Given the description of an element on the screen output the (x, y) to click on. 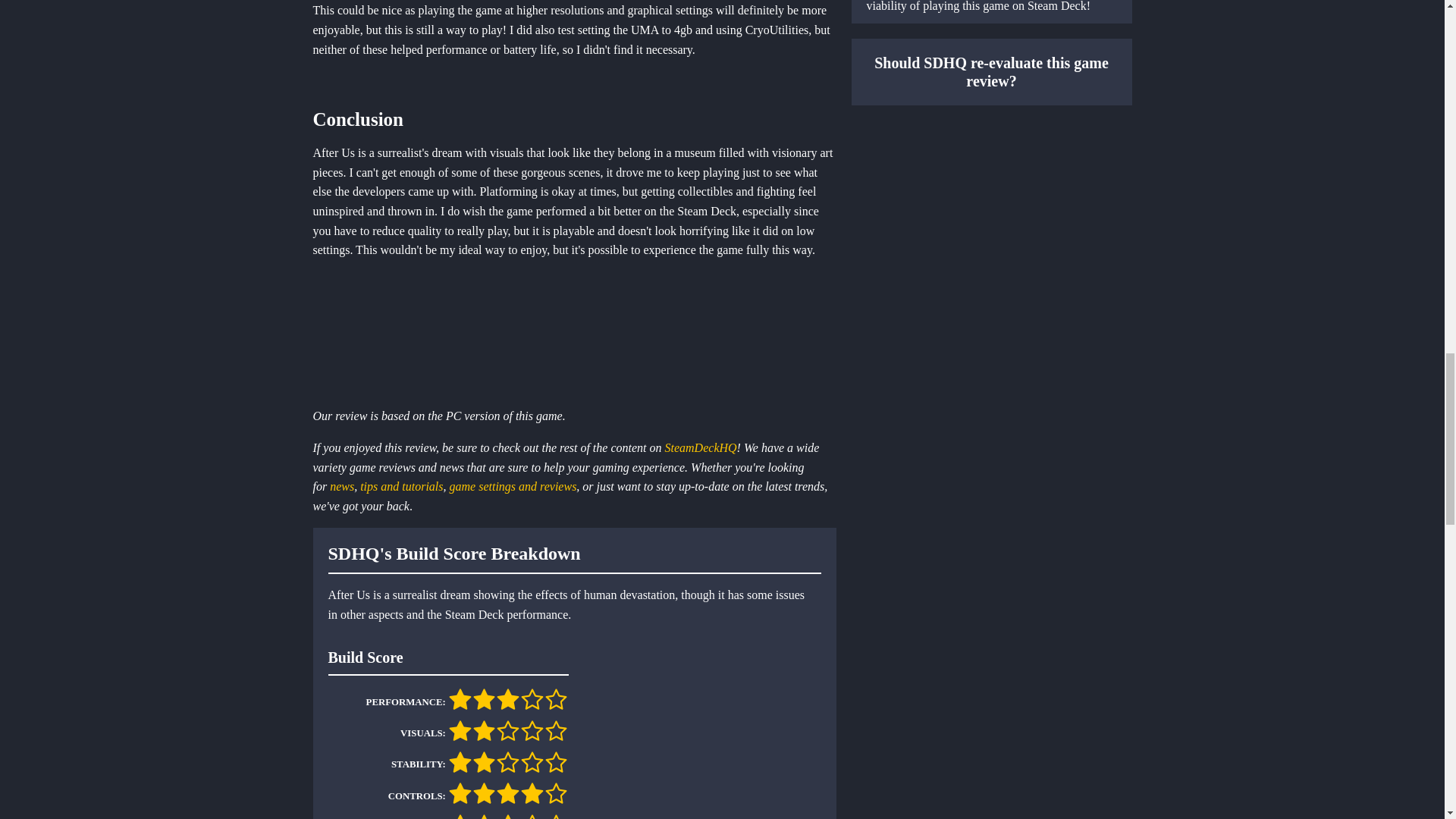
game settings and reviews (512, 486)
news (341, 486)
SteamDeckHQ (700, 447)
tips and tutorials (400, 486)
